Given the description of an element on the screen output the (x, y) to click on. 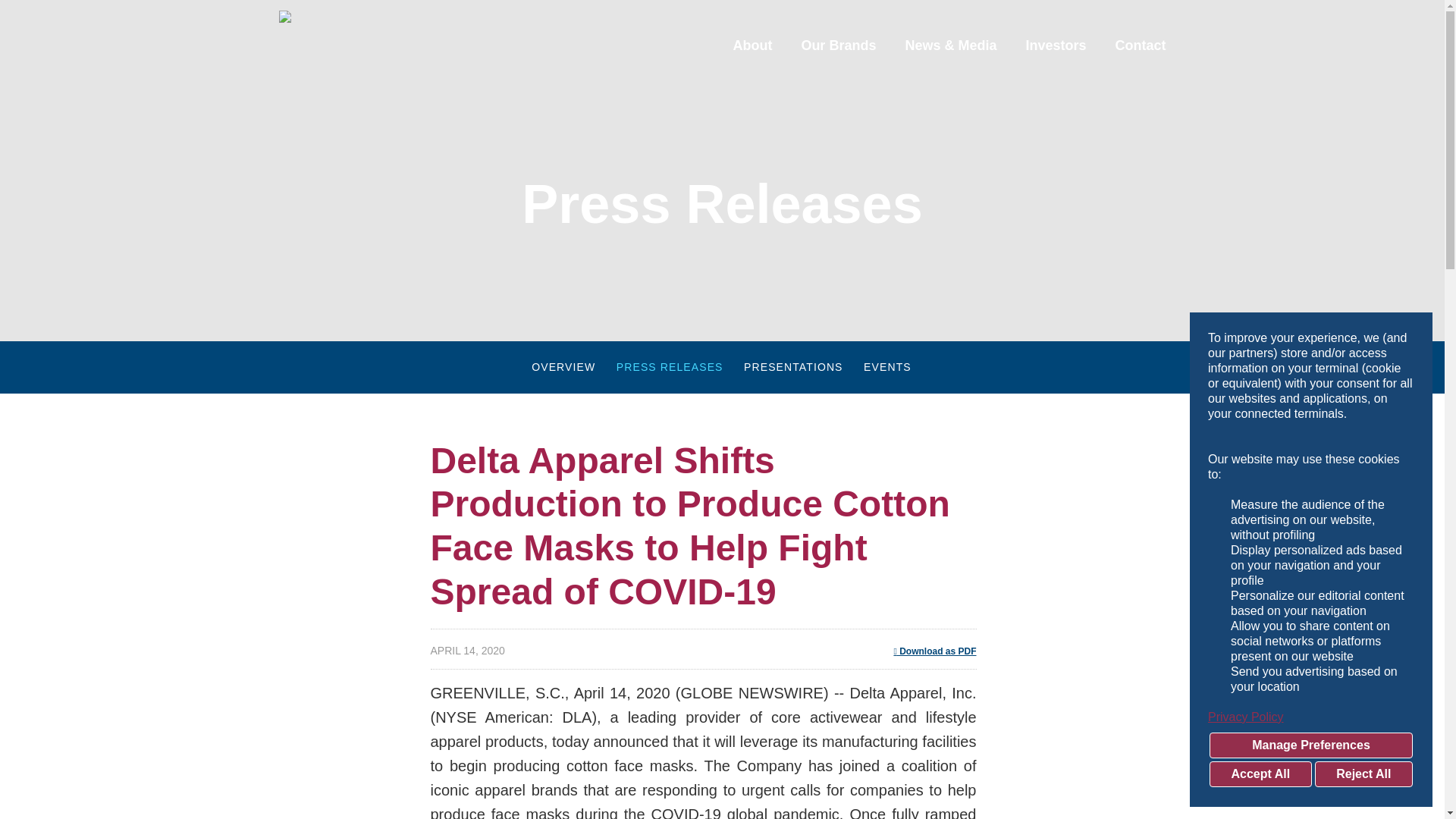
Our Brands (837, 65)
OVERVIEW (563, 367)
Accept All (1260, 774)
PRESENTATIONS (792, 367)
PRESS RELEASES (670, 367)
Reject All (1363, 774)
Privacy Policy (1310, 717)
Manage Preferences (1310, 745)
Investors (1055, 65)
Contact (1133, 65)
